Given the description of an element on the screen output the (x, y) to click on. 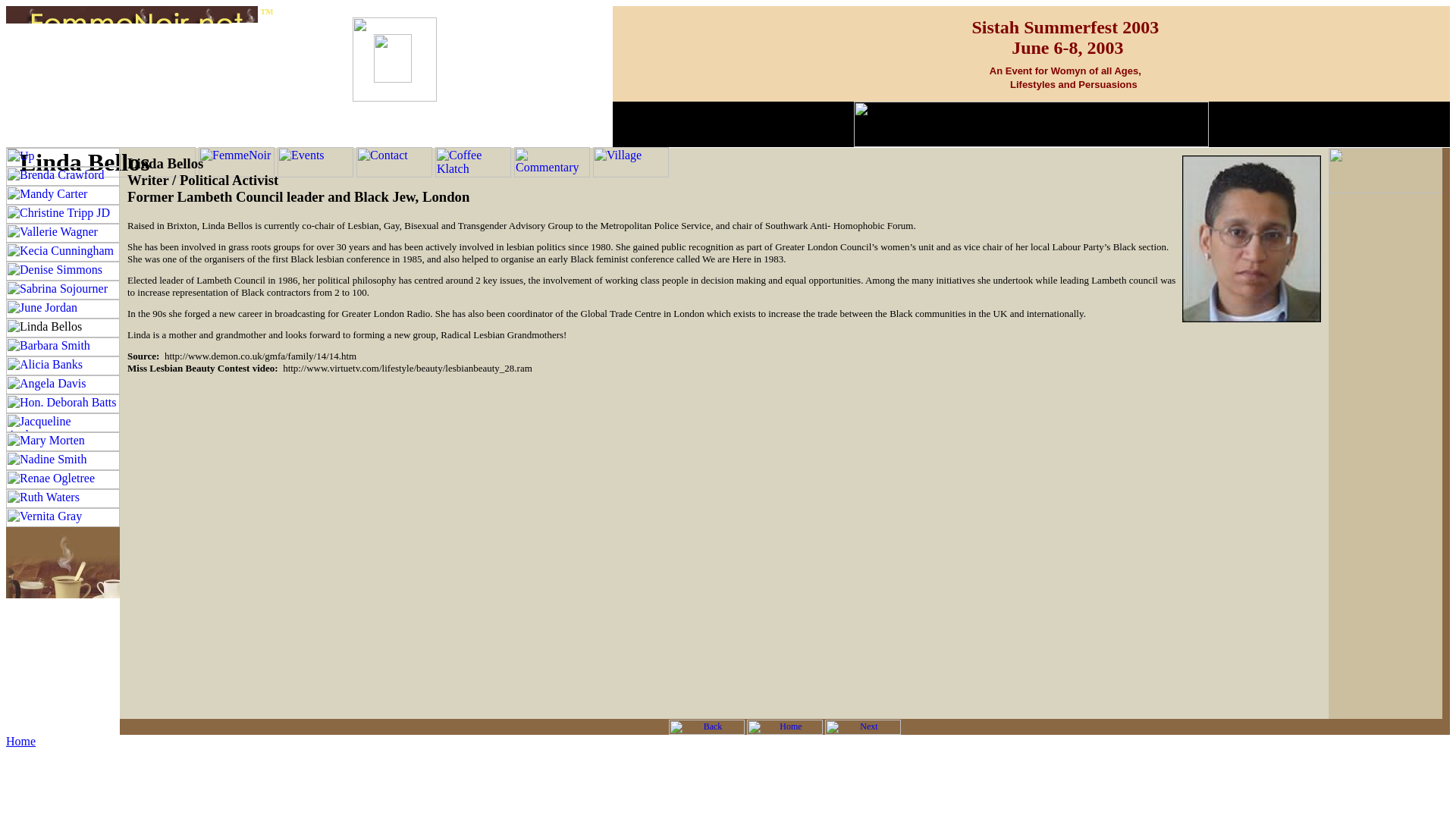
Home (19, 740)
